Given the description of an element on the screen output the (x, y) to click on. 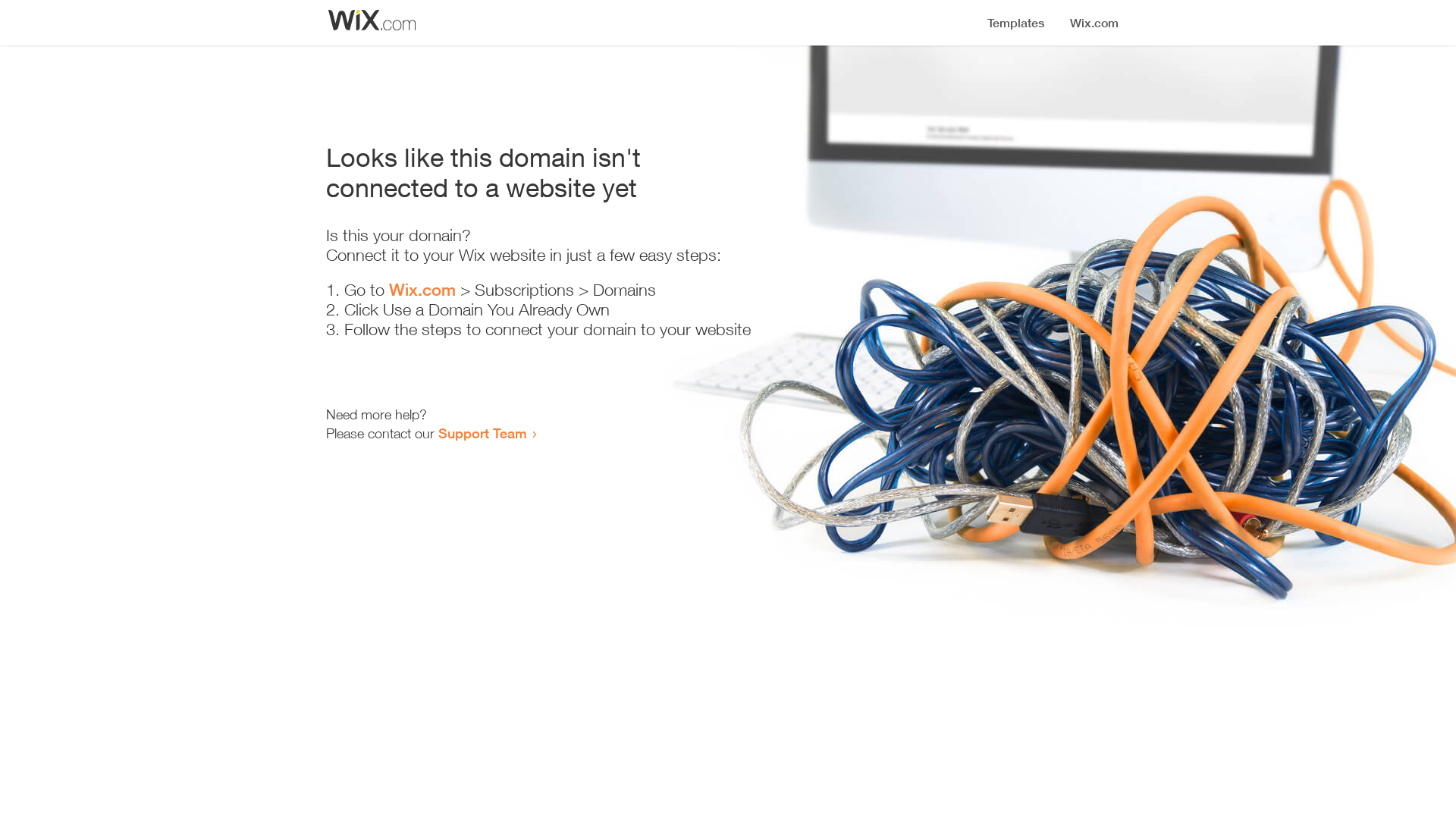
Wix.com Element type: text (422, 289)
Support Team Element type: text (482, 432)
